Given the description of an element on the screen output the (x, y) to click on. 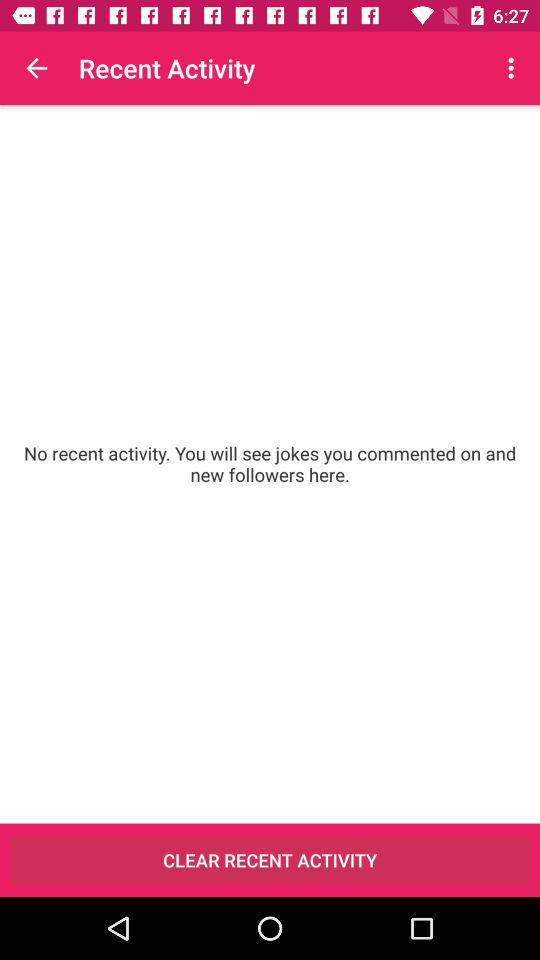
tap the icon next to the recent activity app (513, 67)
